Given the description of an element on the screen output the (x, y) to click on. 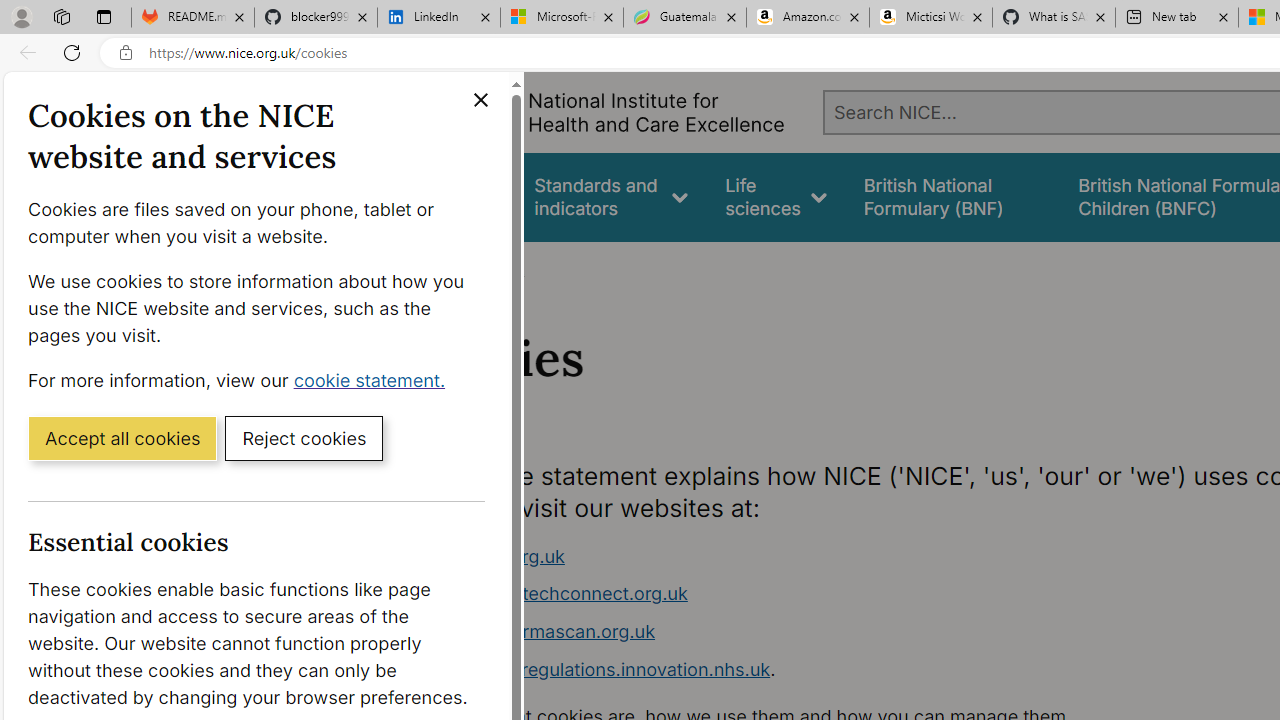
Reject cookies (304, 437)
false (952, 196)
Accept all cookies (122, 437)
www.ukpharmascan.org.uk (796, 632)
www.healthtechconnect.org.uk (796, 594)
Close cookie banner (480, 99)
www.ukpharmascan.org.uk (538, 631)
